Given the description of an element on the screen output the (x, y) to click on. 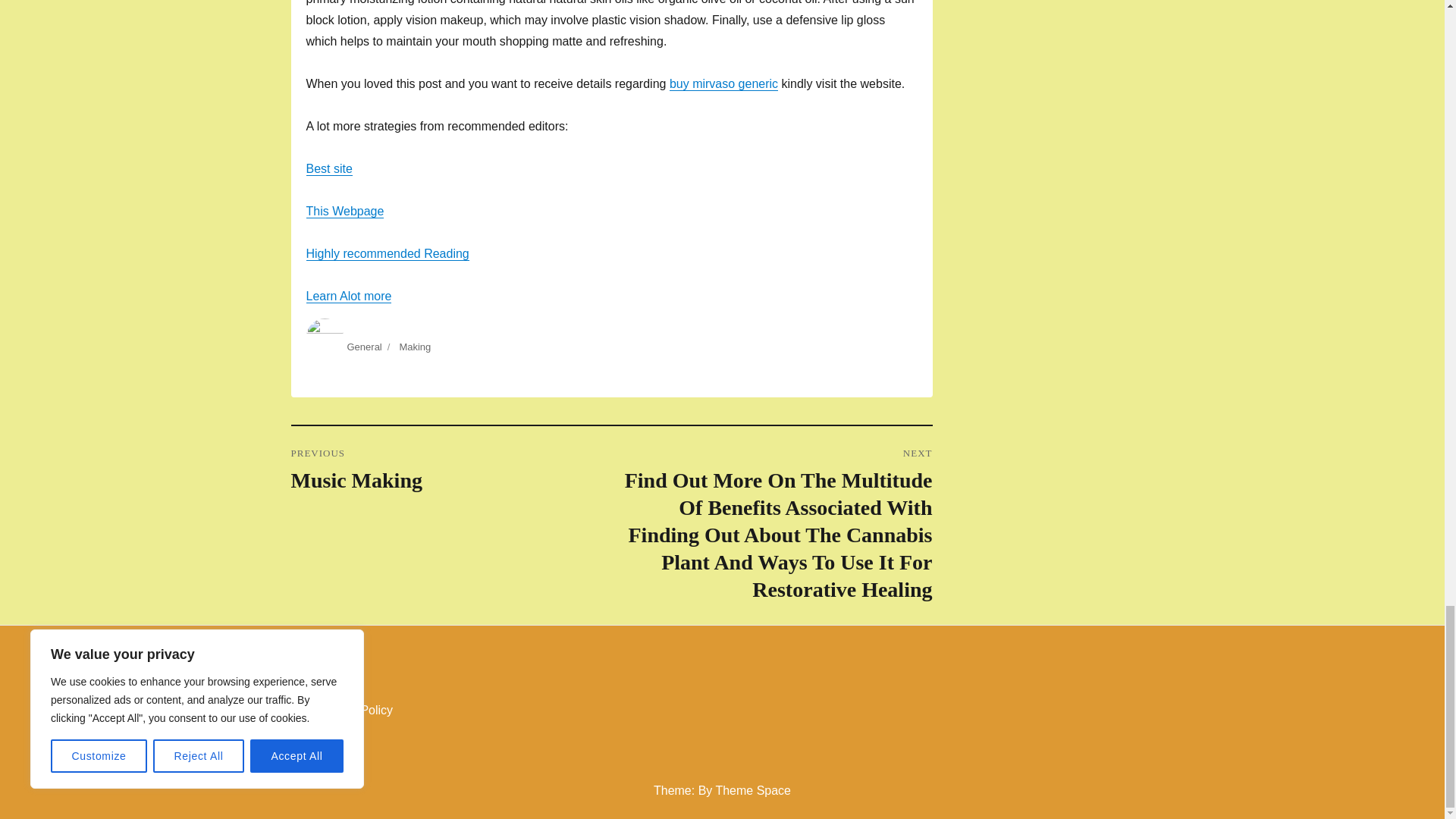
This Webpage (344, 210)
buy mirvaso generic (723, 83)
Learn Alot more (348, 295)
Highly recommended Reading (386, 253)
Making (414, 346)
Best site (451, 470)
General (328, 168)
